Given the description of an element on the screen output the (x, y) to click on. 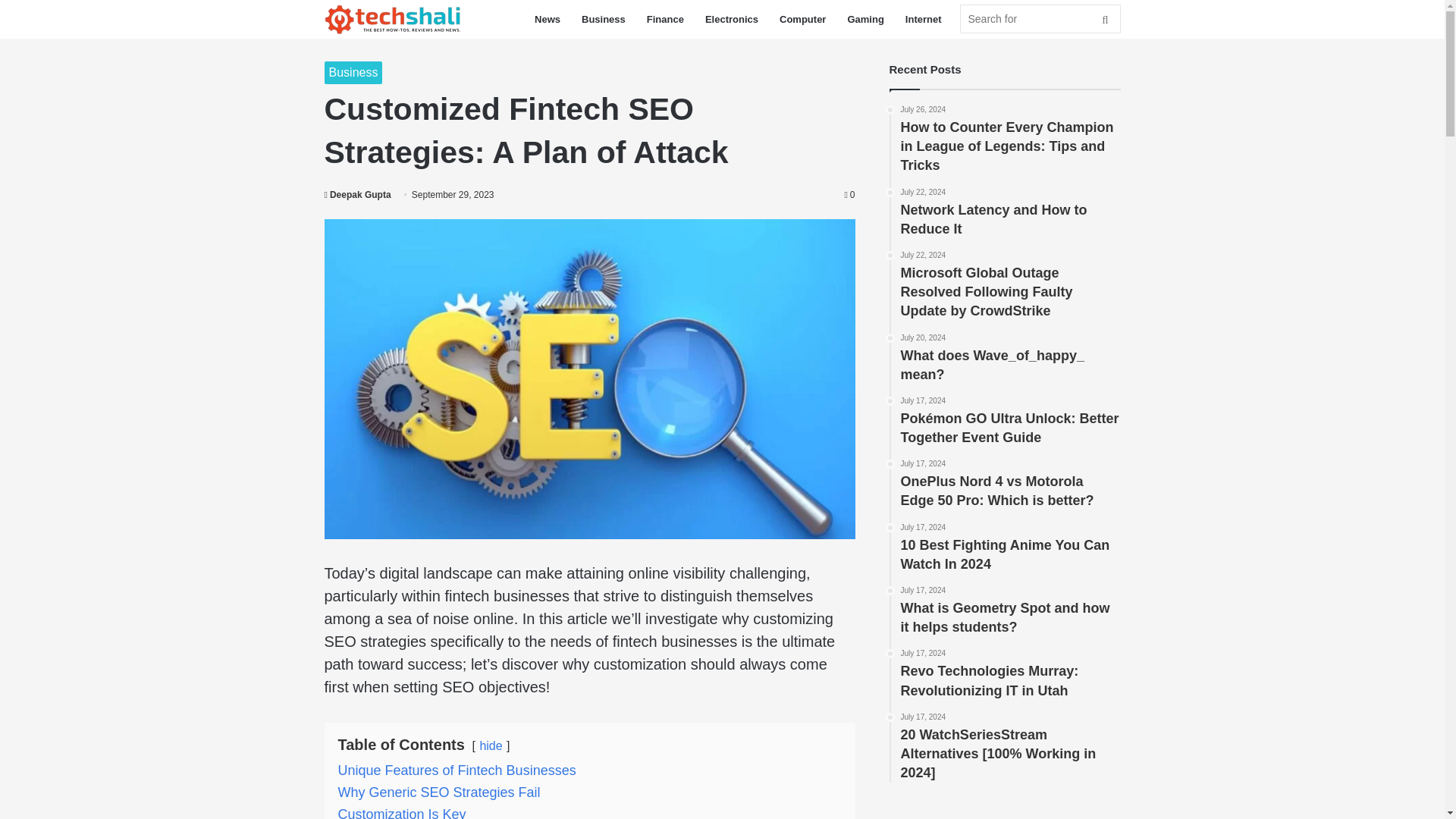
Gaming (864, 19)
Customization Is Key (401, 812)
Computer (801, 19)
Why Generic SEO Strategies Fail (438, 792)
Unique Features of Fintech Businesses (456, 770)
Deepak Gupta (357, 194)
Techshali (392, 19)
Search for (1040, 18)
News (547, 19)
Internet (923, 19)
Business (603, 19)
Electronics (731, 19)
Deepak Gupta (357, 194)
hide (490, 745)
